Given the description of an element on the screen output the (x, y) to click on. 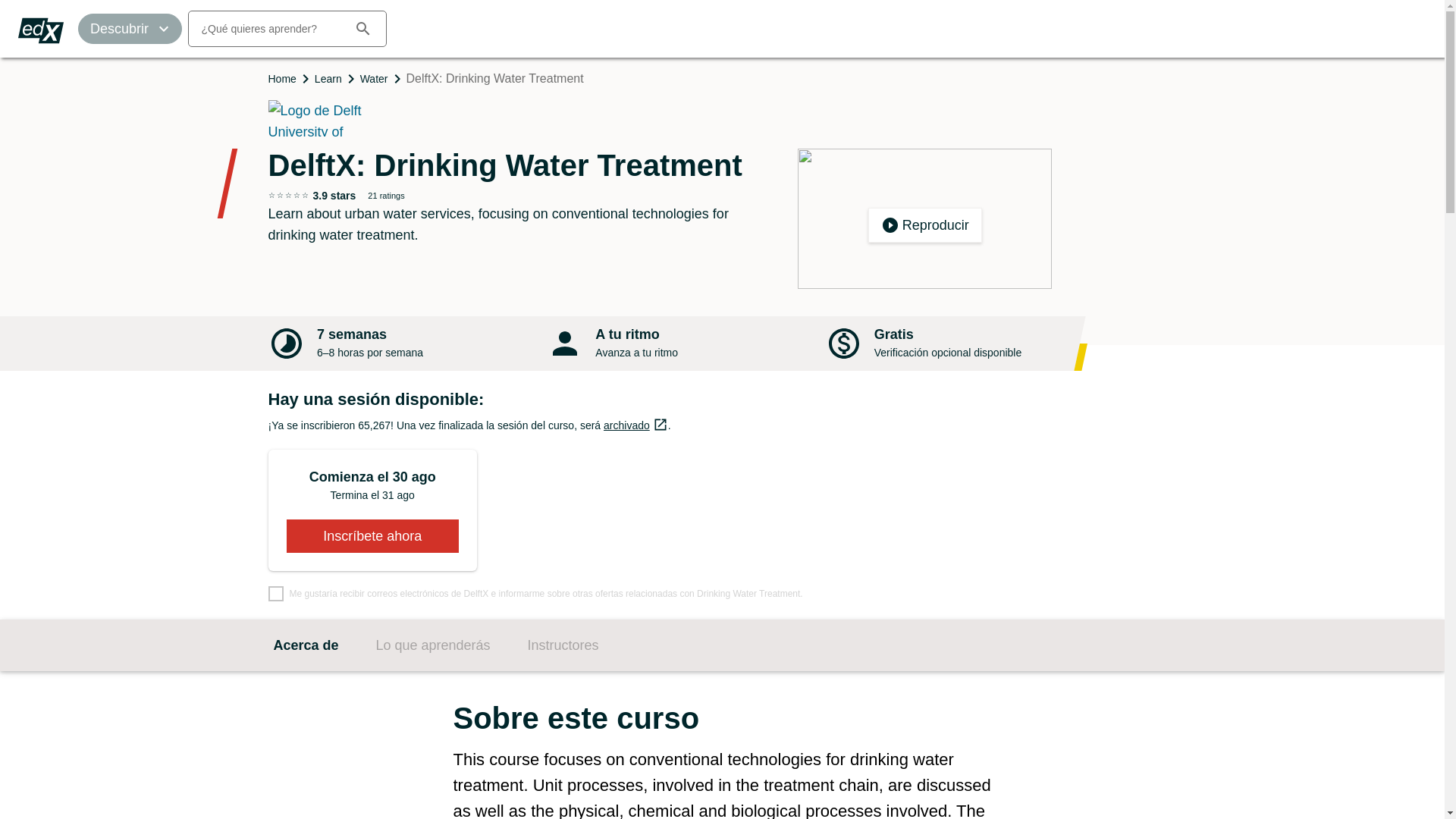
Acerca de (304, 645)
Water (373, 78)
false (275, 593)
Home (282, 78)
Instructores (562, 645)
Descubrir (130, 28)
Learn (924, 218)
Omitir Sobre este curso (328, 78)
